Given the description of an element on the screen output the (x, y) to click on. 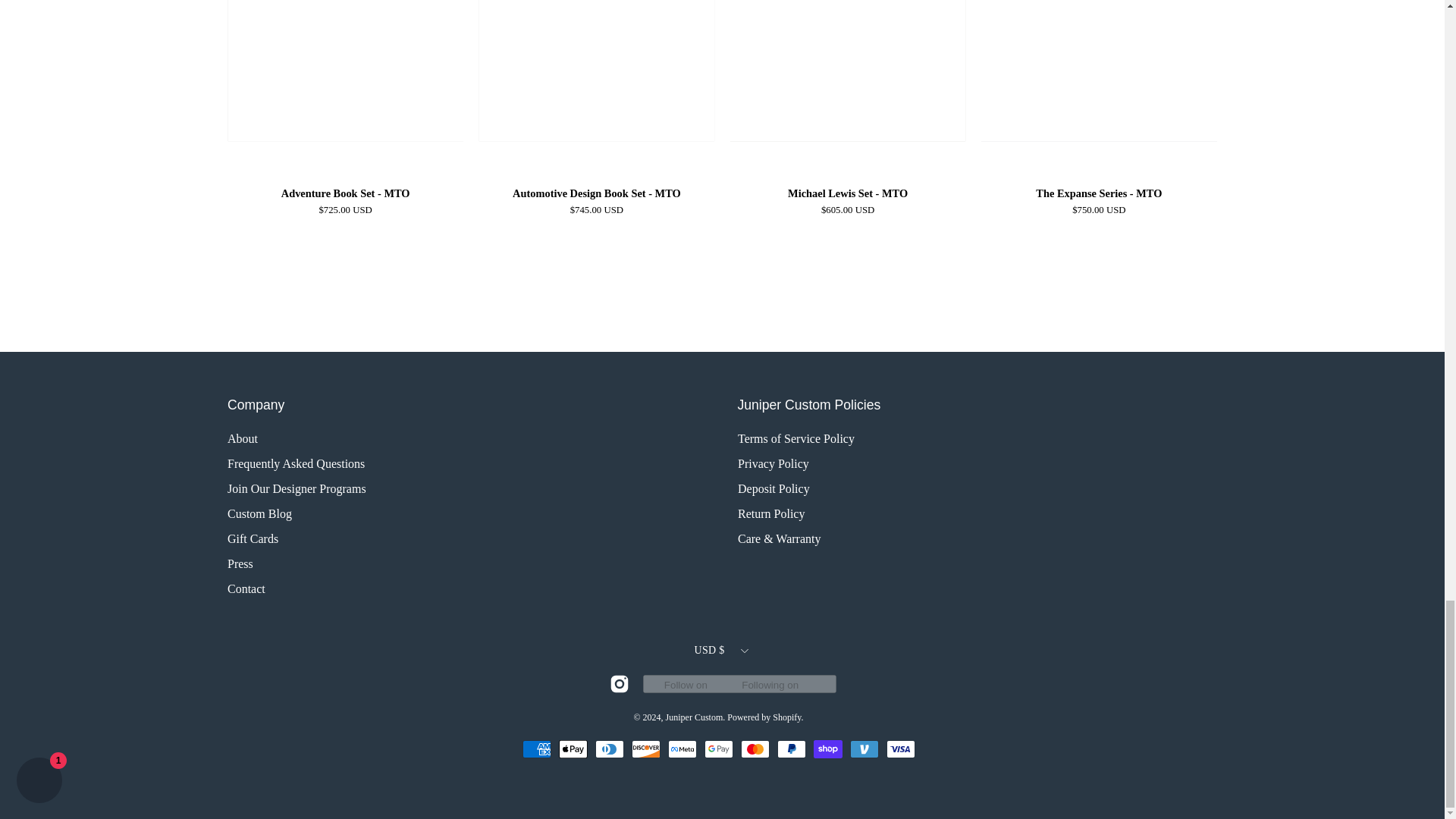
View Juniper Custom on Instagram (619, 683)
